Given the description of an element on the screen output the (x, y) to click on. 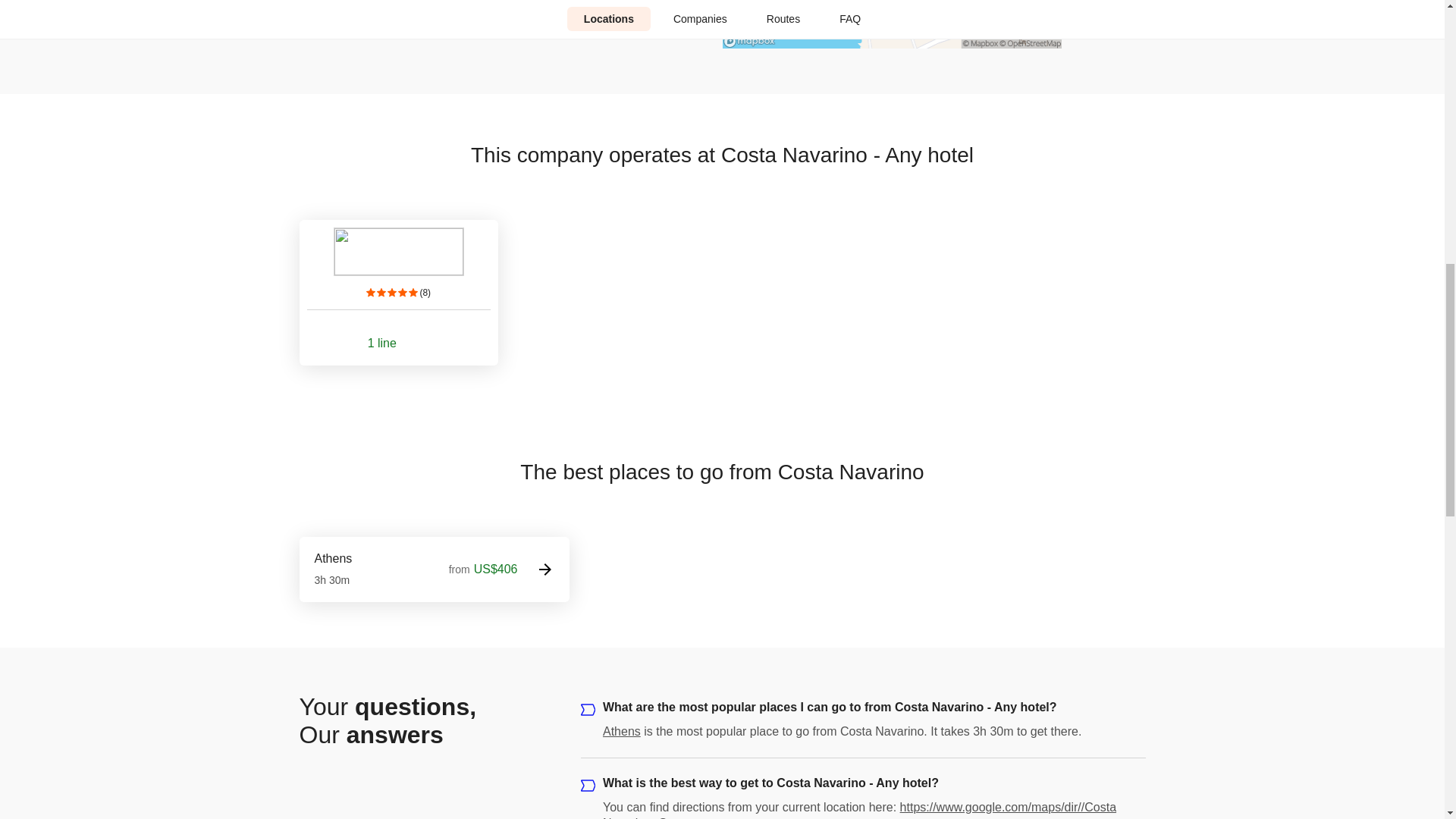
Athens (621, 730)
